Given the description of an element on the screen output the (x, y) to click on. 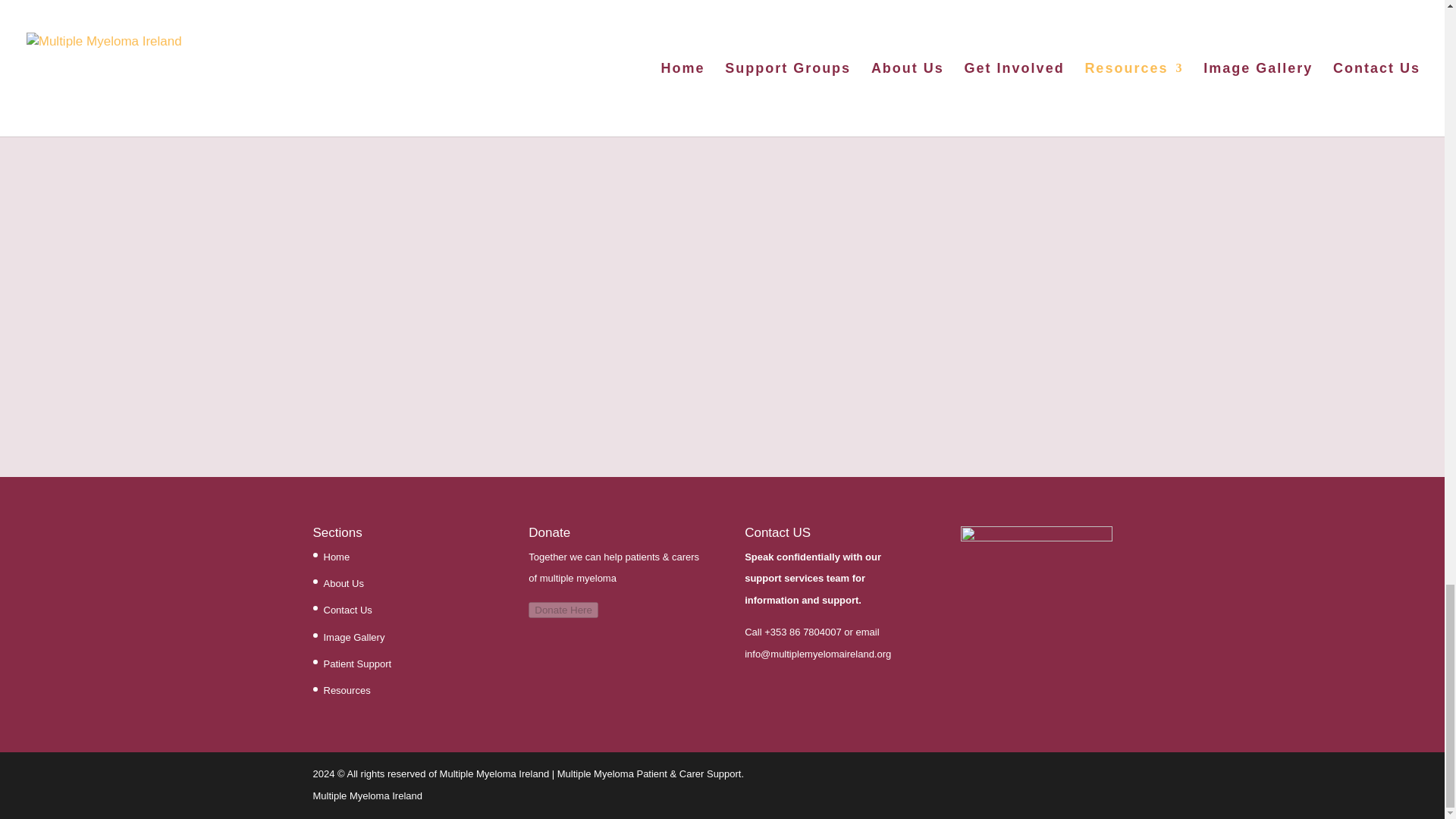
Myeloma-UK-Exercises-for-myeloma-patients-Infosheet (1009, 243)
barriers-to-physical-activity-quiz (433, 244)
